Given the description of an element on the screen output the (x, y) to click on. 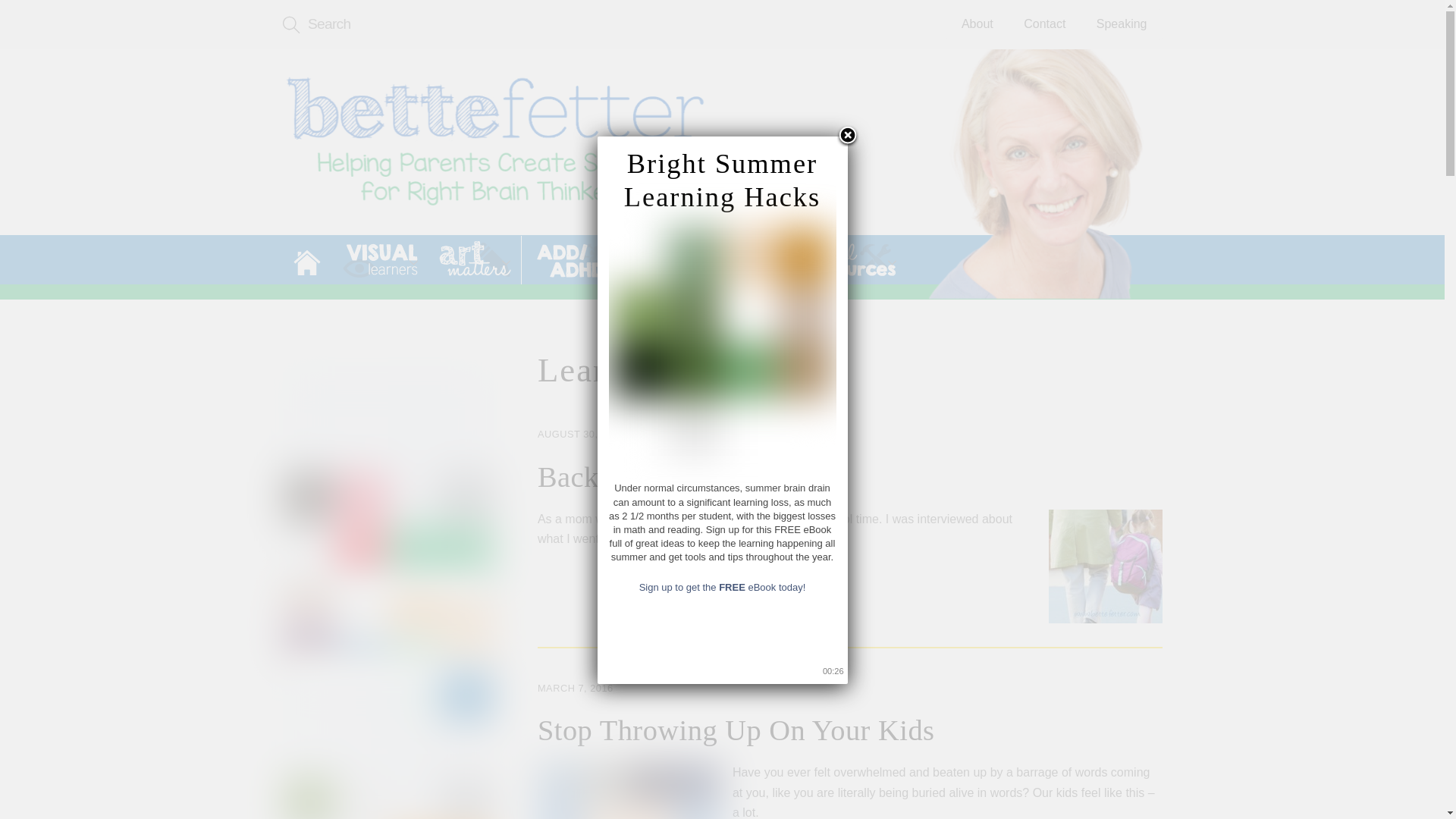
About (977, 24)
Contact (1044, 24)
About Contact Speaking (1053, 24)
Back to School as a Mom (1044, 173)
Search (494, 24)
Speaking (1121, 24)
Back to School as a Mom (494, 142)
